Given the description of an element on the screen output the (x, y) to click on. 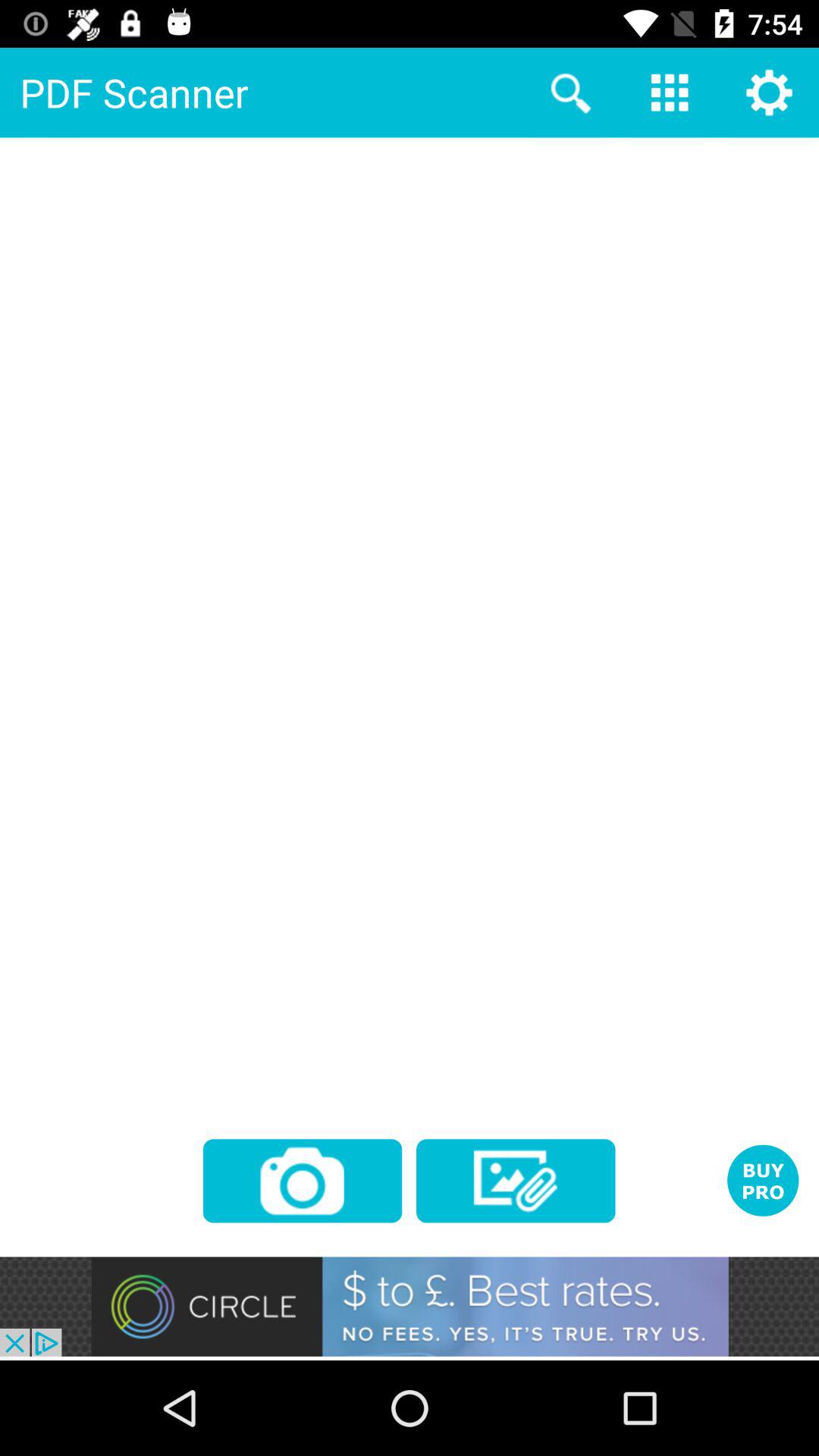
buy pro version (763, 1180)
